Given the description of an element on the screen output the (x, y) to click on. 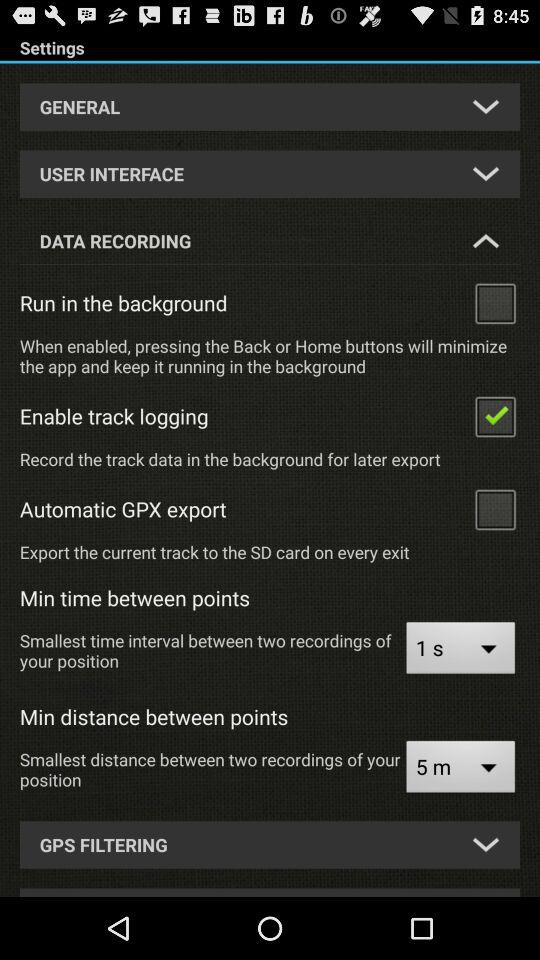
toggle automatic gpx export option (495, 508)
